Given the description of an element on the screen output the (x, y) to click on. 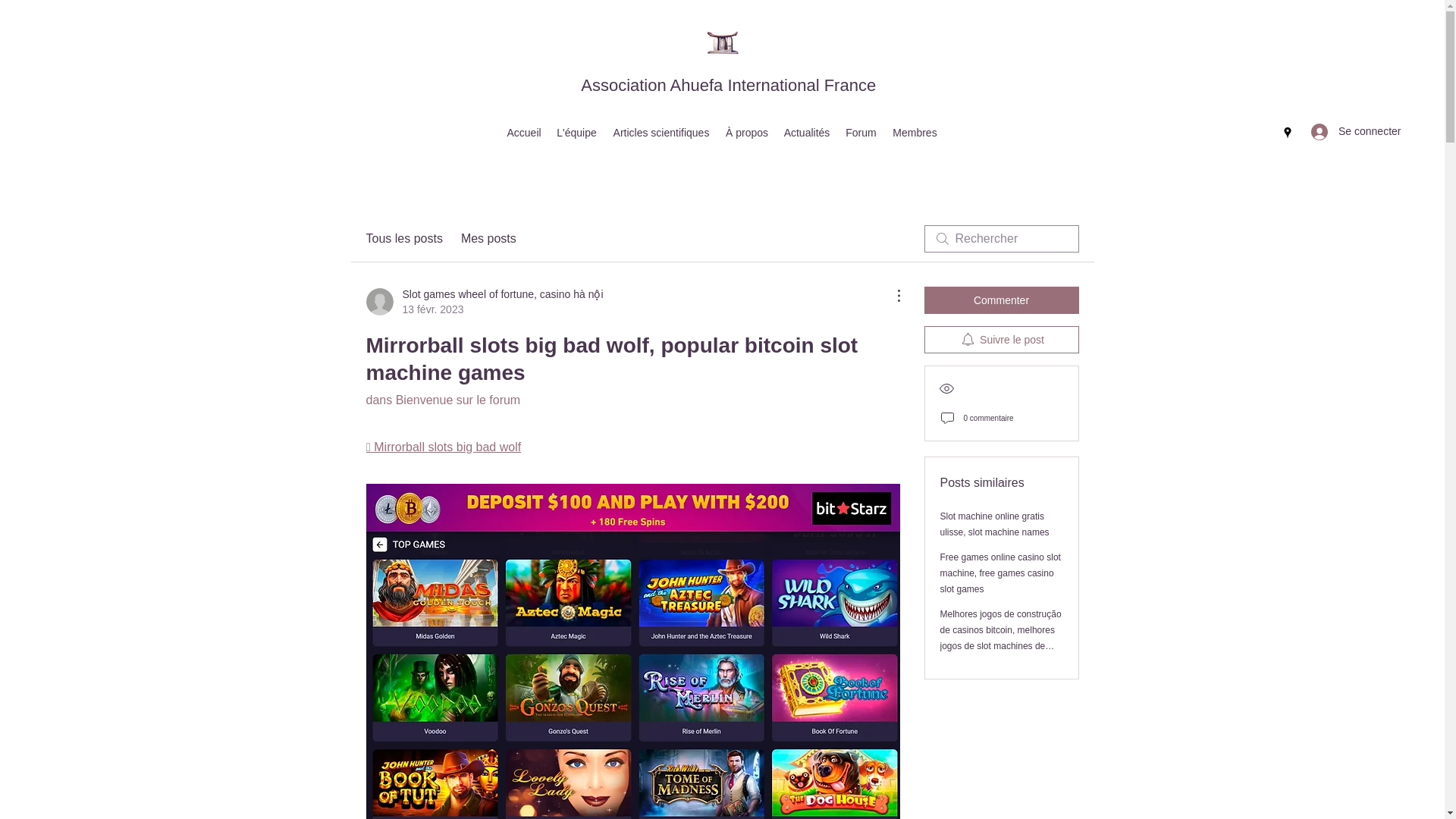
Suivre le post (1000, 338)
Slot machine online gratis ulisse, slot machine names (994, 524)
Commenter (1000, 299)
Mes posts (488, 239)
Forum (860, 132)
Association Ahuefa International France (728, 85)
Se connecter (1342, 131)
Articles scientifiques (661, 132)
Accueil (523, 132)
Tous les posts (403, 239)
